Given the description of an element on the screen output the (x, y) to click on. 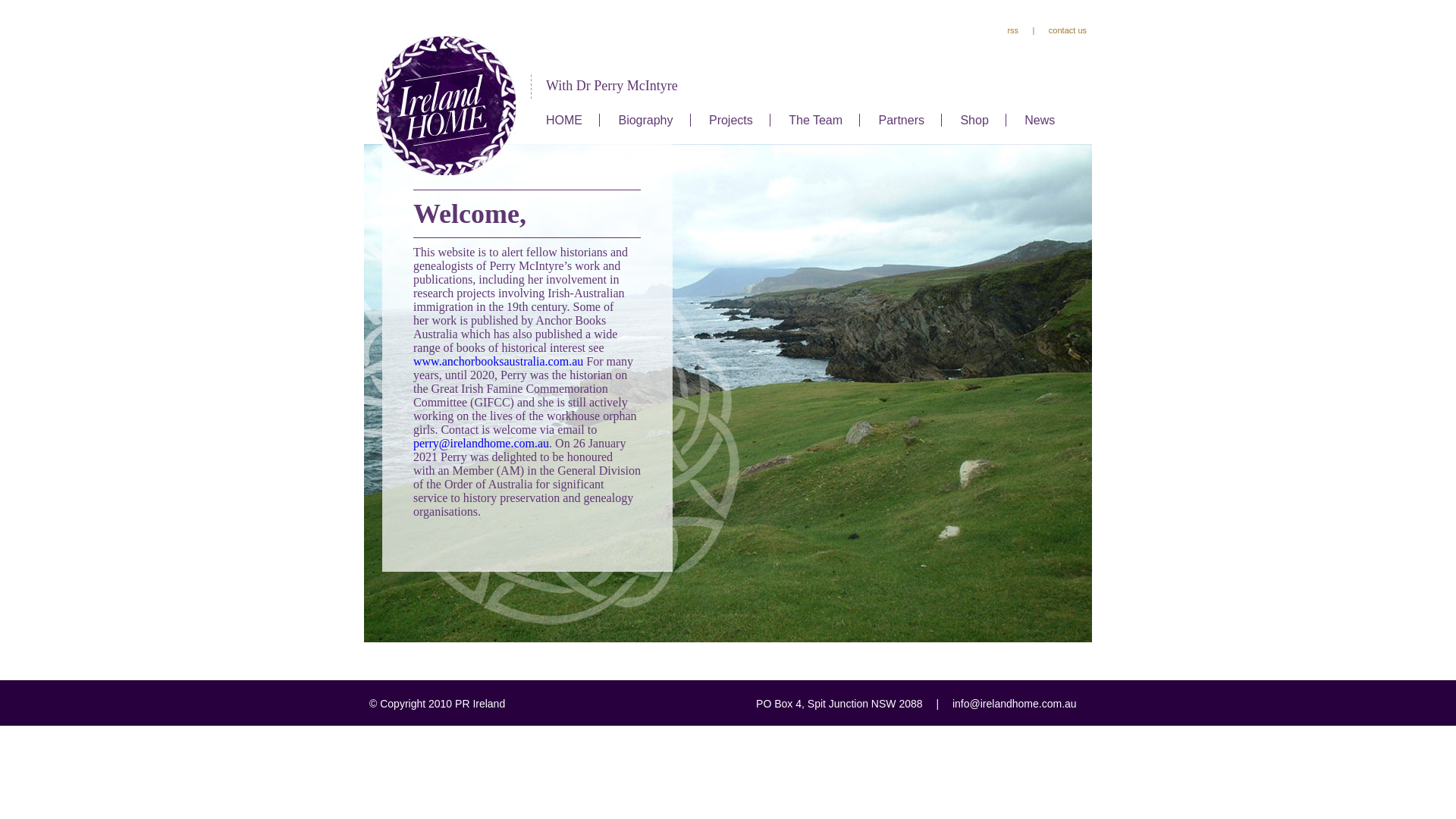
HOME Element type: text (564, 119)
perry@irelandhome.com.au Element type: text (481, 442)
rss Element type: text (1012, 29)
Shop Element type: text (974, 119)
The Team Element type: text (815, 119)
News Element type: text (1039, 119)
Projects Element type: text (731, 119)
Partners Element type: text (901, 119)
www.anchorbooksaustralia.com.au Element type: text (498, 360)
contact us Element type: text (1067, 29)
Biography Element type: text (645, 119)
